Given the description of an element on the screen output the (x, y) to click on. 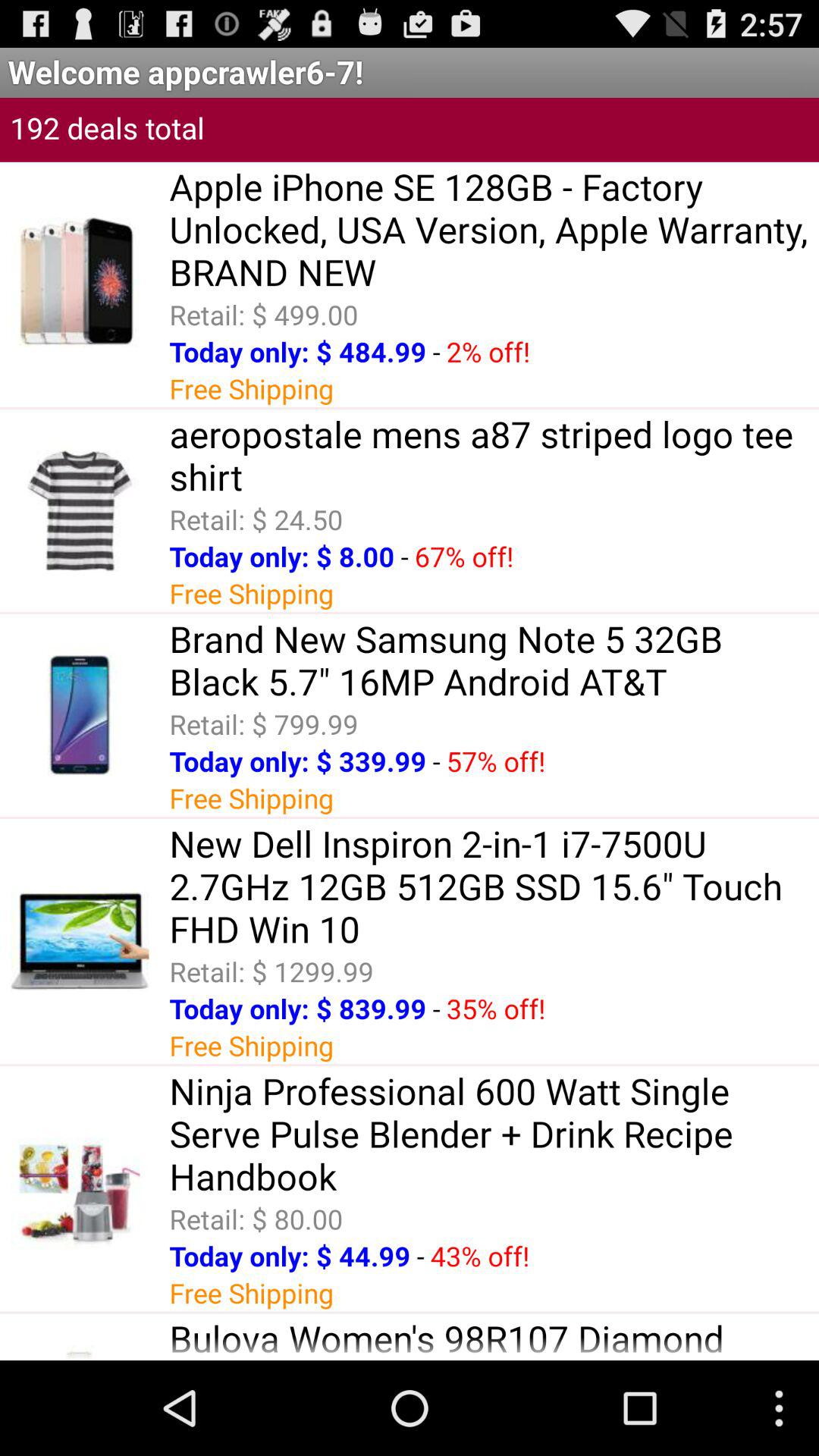
launch item above brand new samsung (404, 556)
